Given the description of an element on the screen output the (x, y) to click on. 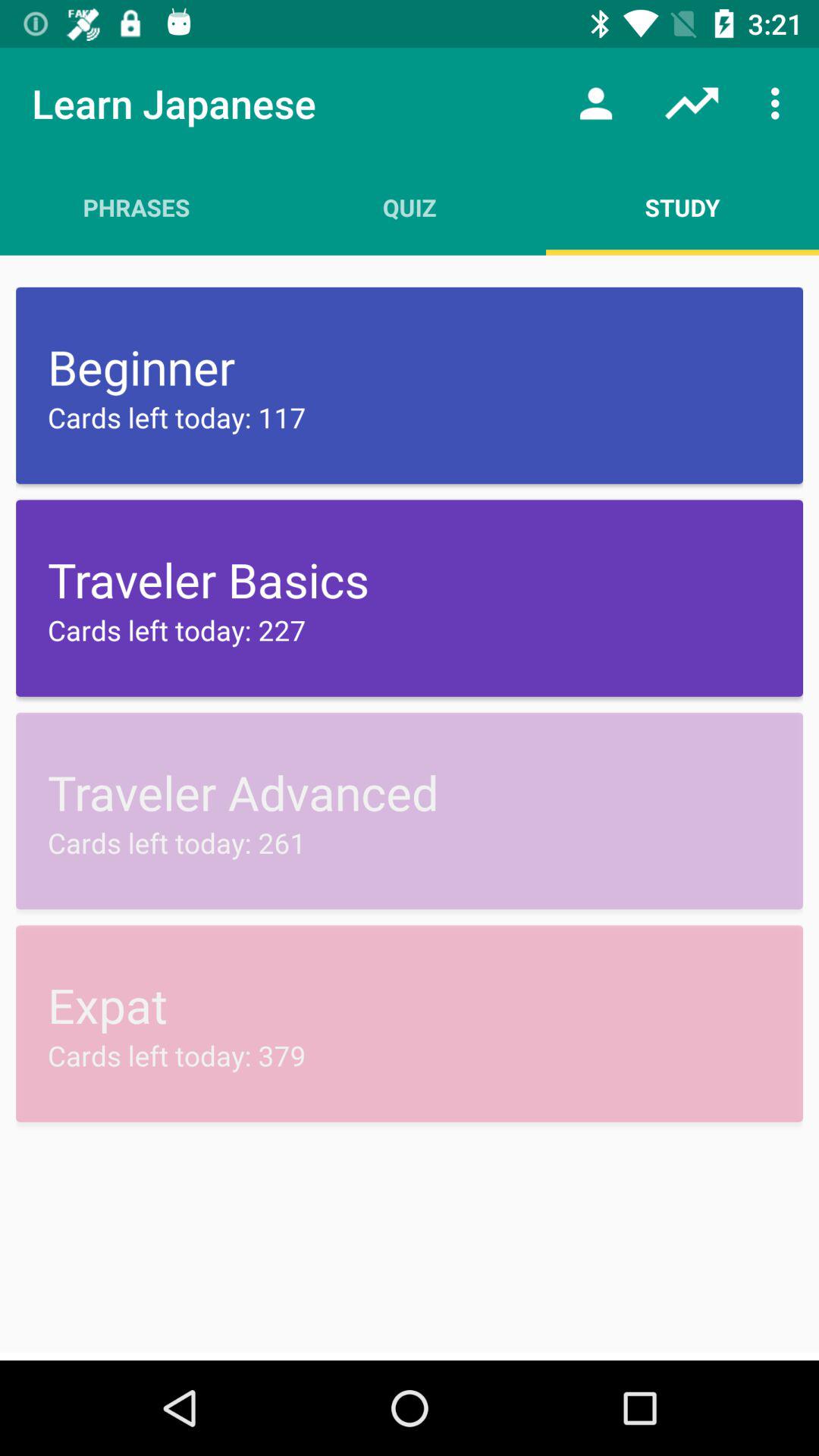
flip until quiz (409, 207)
